Given the description of an element on the screen output the (x, y) to click on. 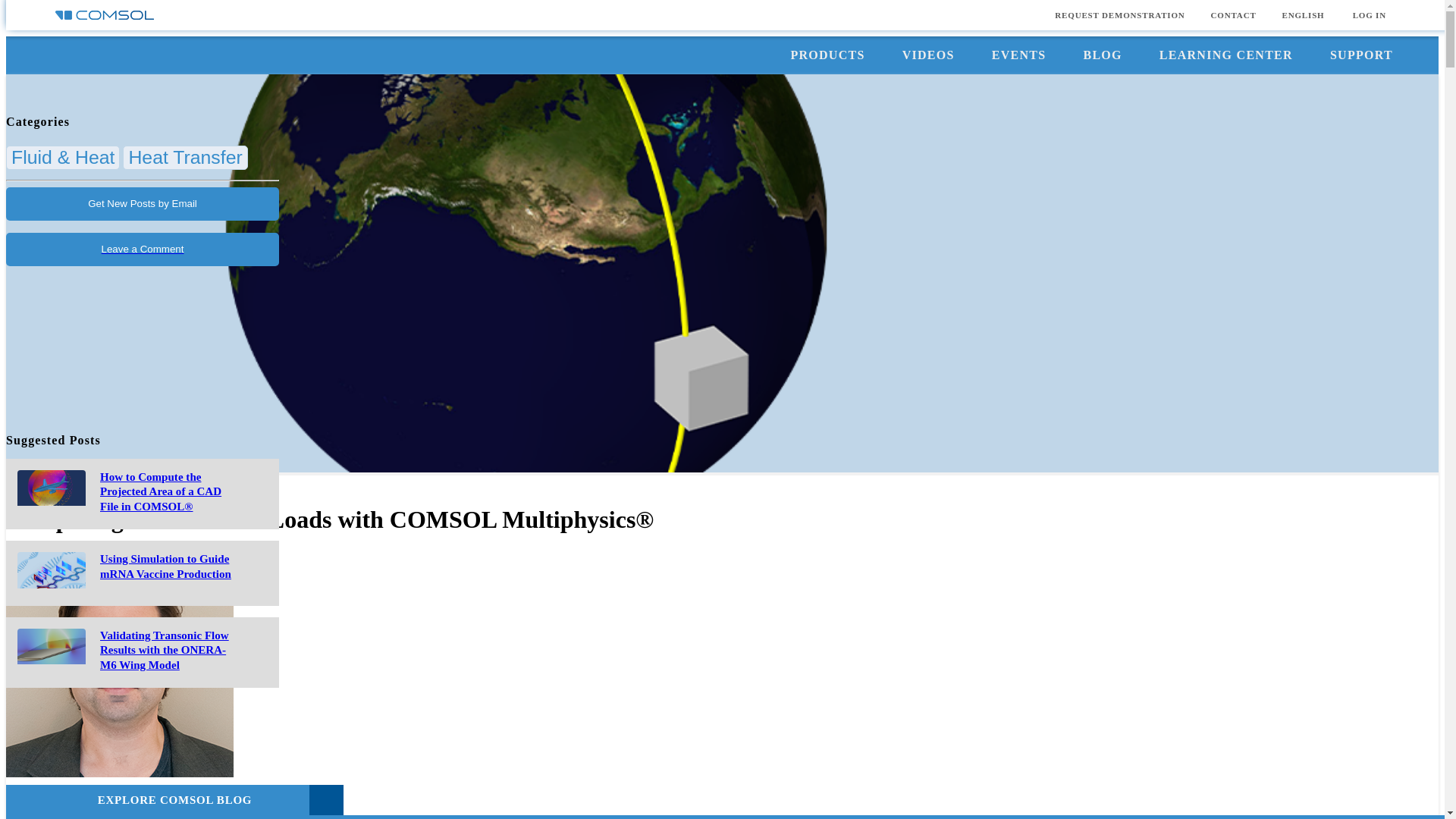
BLOG (1102, 55)
COMSOL Blog (43, 481)
VIDEOS (927, 55)
REQUEST DEMONSTRATION (1119, 15)
EVENTS (1018, 55)
PRODUCTS (826, 55)
Walter Frei (48, 798)
LEARNING CENTER (1225, 55)
SUPPORT (1360, 55)
LOG IN (1368, 15)
CONTACT (1233, 15)
